Given the description of an element on the screen output the (x, y) to click on. 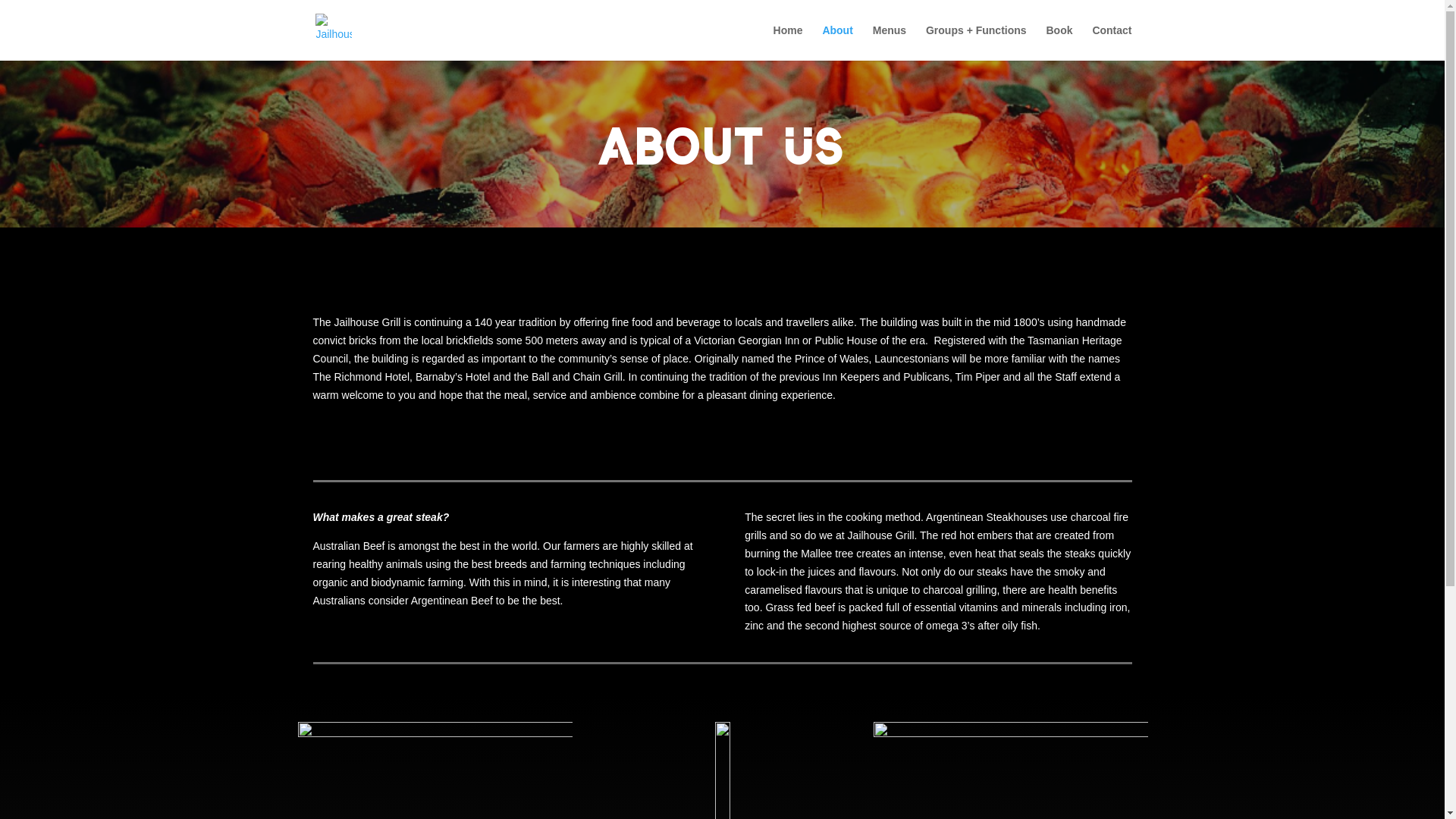
About Element type: text (837, 42)
Groups + Functions Element type: text (975, 42)
Menus Element type: text (889, 42)
Home Element type: text (788, 42)
Contact Element type: text (1111, 42)
Book Element type: text (1058, 42)
